Given the description of an element on the screen output the (x, y) to click on. 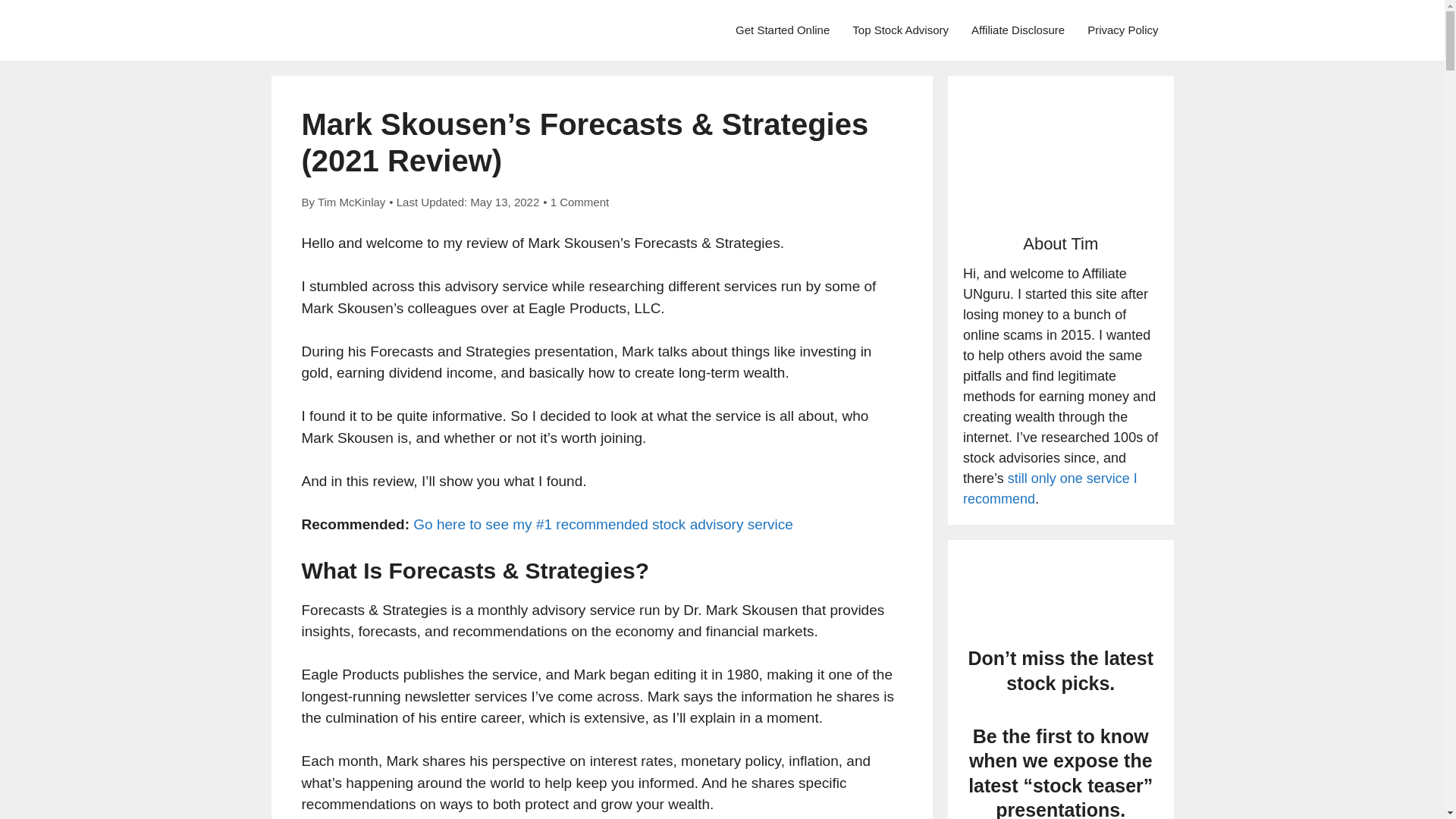
Affiliate Disclosure (1017, 30)
Privacy Policy (1122, 30)
Top Stock Advisory (900, 30)
Get Started Online (782, 30)
Tim McKinlay (351, 201)
Start Here (782, 30)
1 Comment (580, 201)
